Given the description of an element on the screen output the (x, y) to click on. 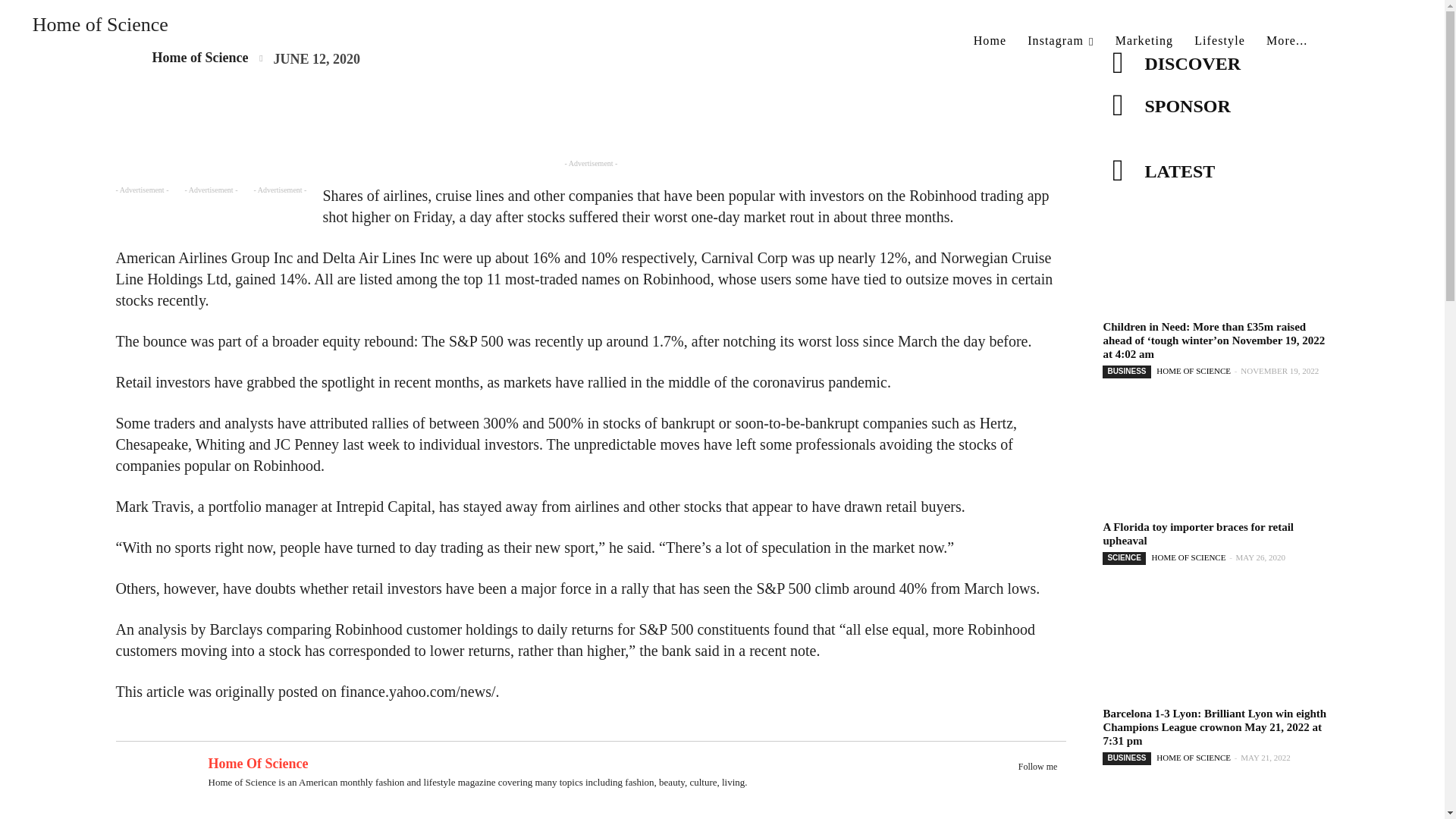
Home of Science (91, 32)
Instagram (1059, 40)
Home (989, 40)
